Given the description of an element on the screen output the (x, y) to click on. 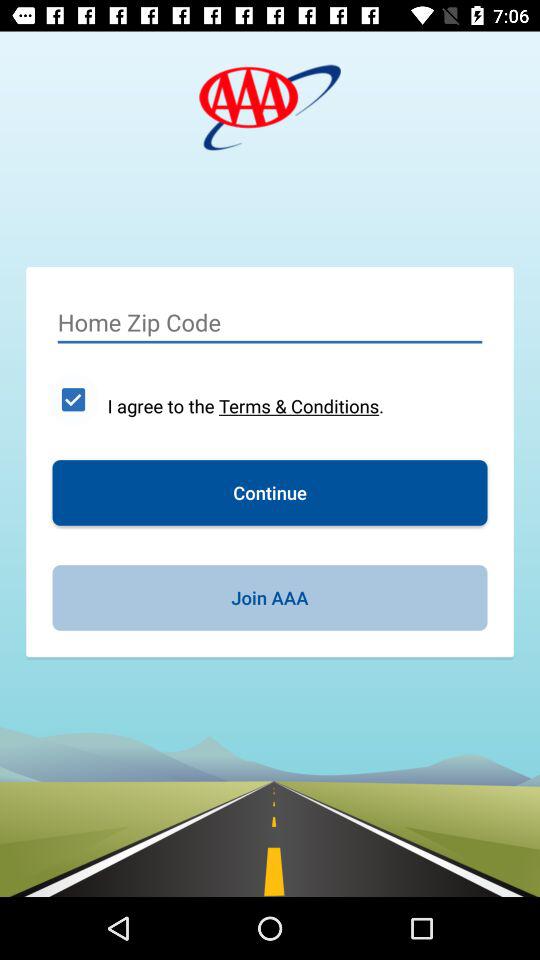
select icon to the left of i agree to (73, 399)
